Given the description of an element on the screen output the (x, y) to click on. 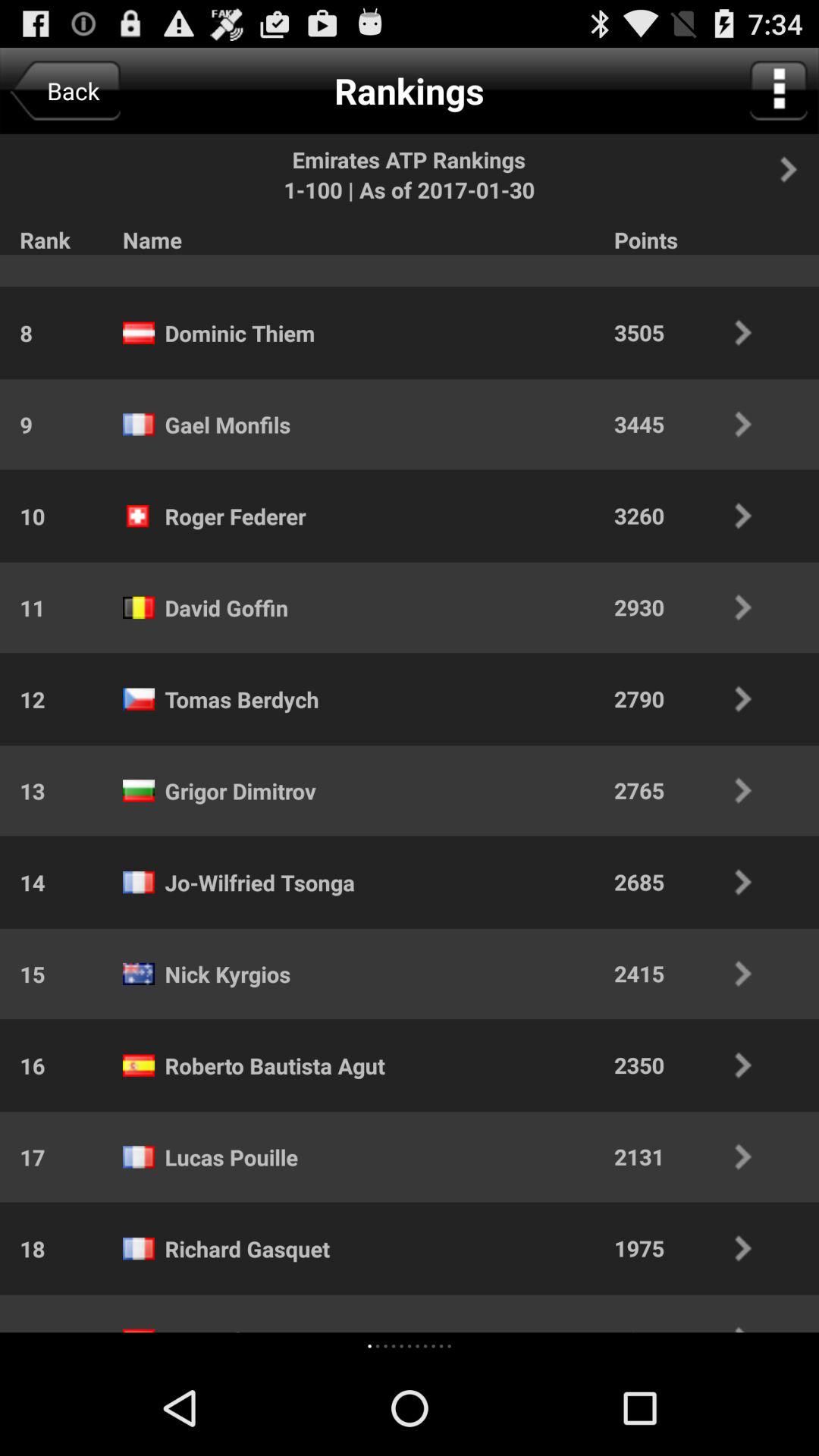
open the item above 17 item (22, 1065)
